Given the description of an element on the screen output the (x, y) to click on. 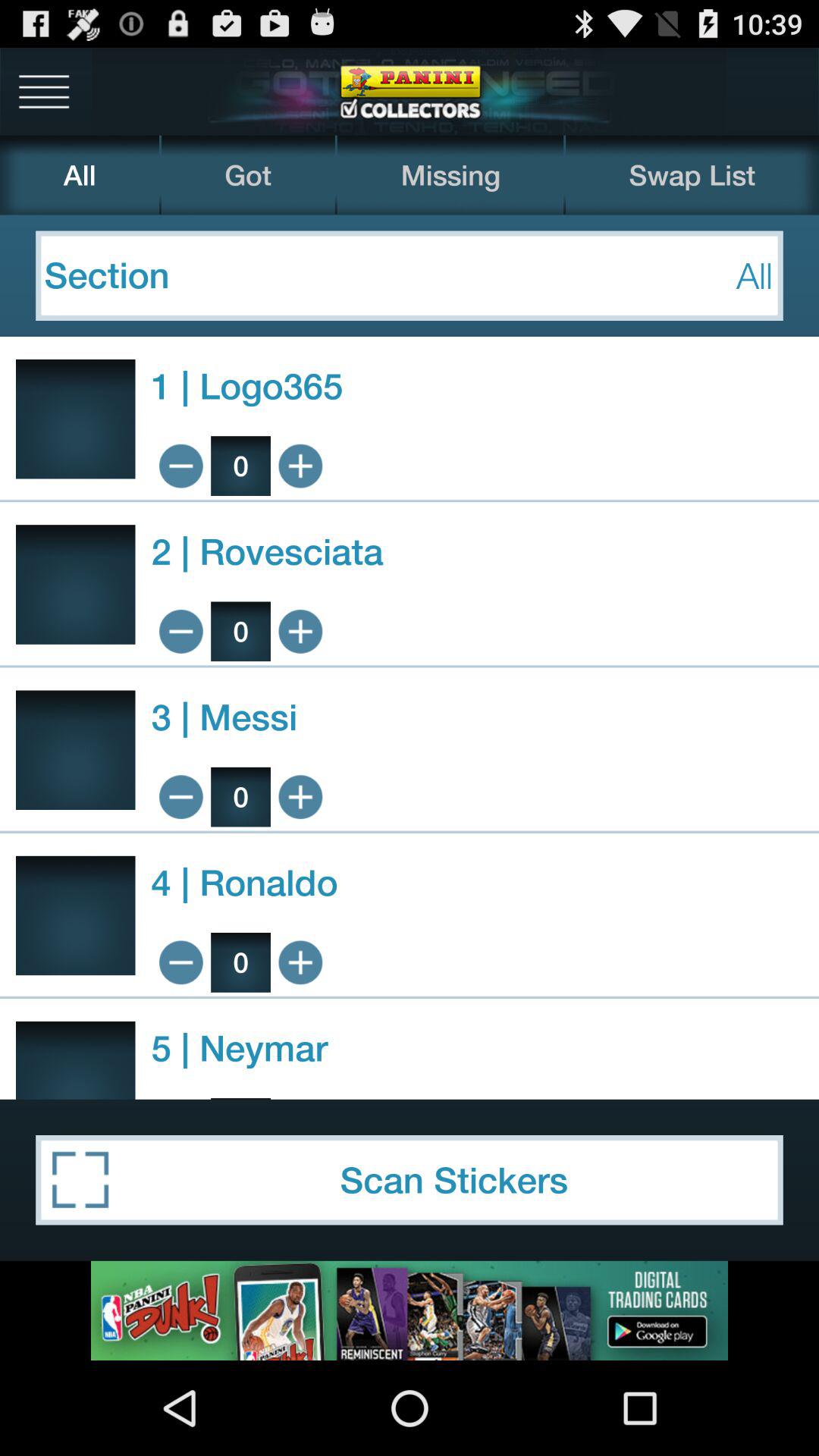
increase number (300, 962)
